Given the description of an element on the screen output the (x, y) to click on. 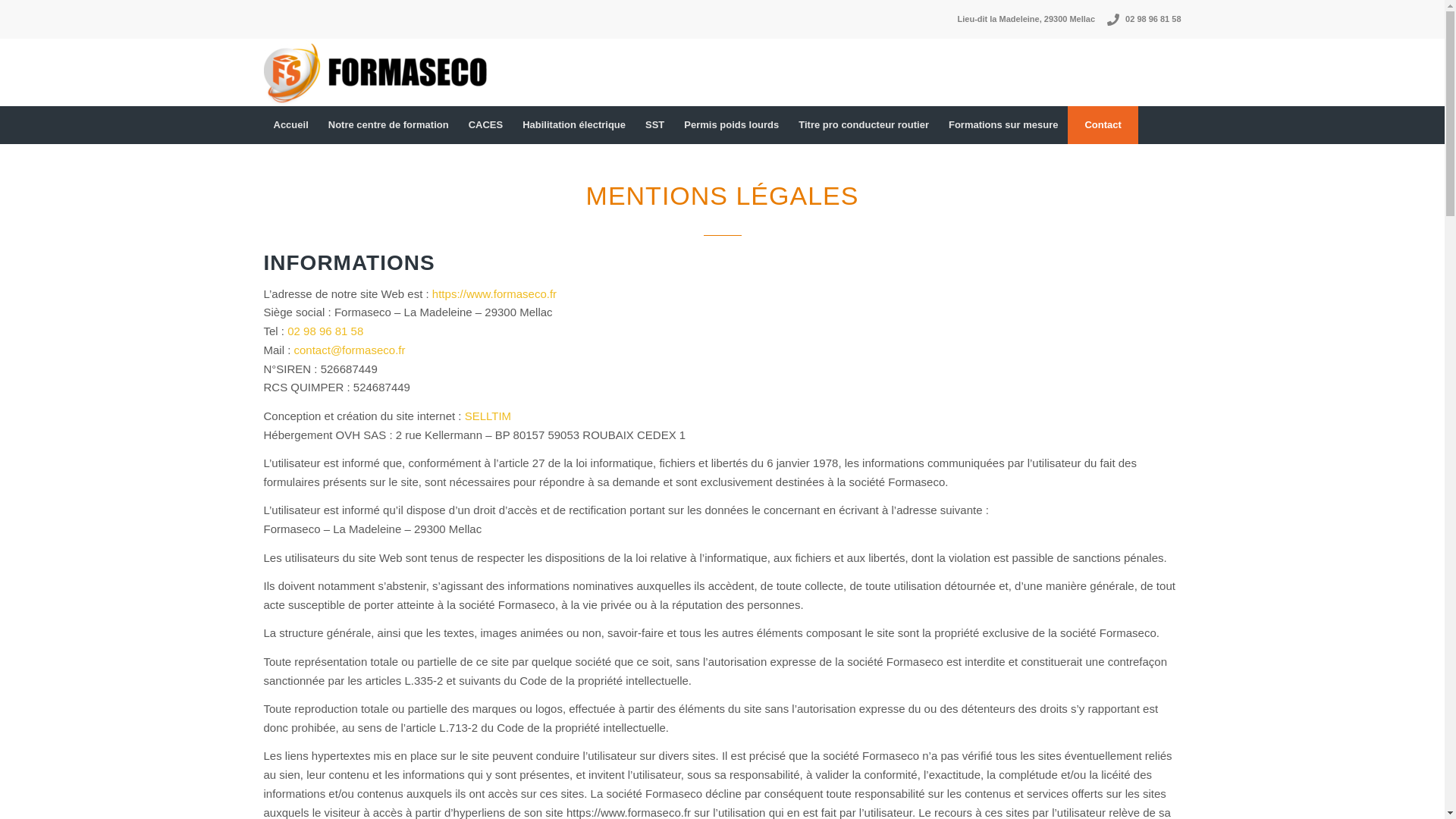
Notre centre de formation Element type: text (388, 125)
CACES Element type: text (485, 125)
02 98 96 81 58 Element type: text (325, 330)
Contact Element type: text (1102, 125)
contact@formaseco.fr Element type: text (349, 349)
02 98 96 81 58 Element type: text (1152, 19)
https://www.formaseco.fr Element type: text (494, 293)
Permis poids lourds Element type: text (731, 125)
SELLTIM Element type: text (487, 415)
Formations sur mesure Element type: text (1003, 125)
Titre pro conducteur routier Element type: text (863, 125)
SST Element type: text (654, 125)
Accueil Element type: text (290, 125)
